Given the description of an element on the screen output the (x, y) to click on. 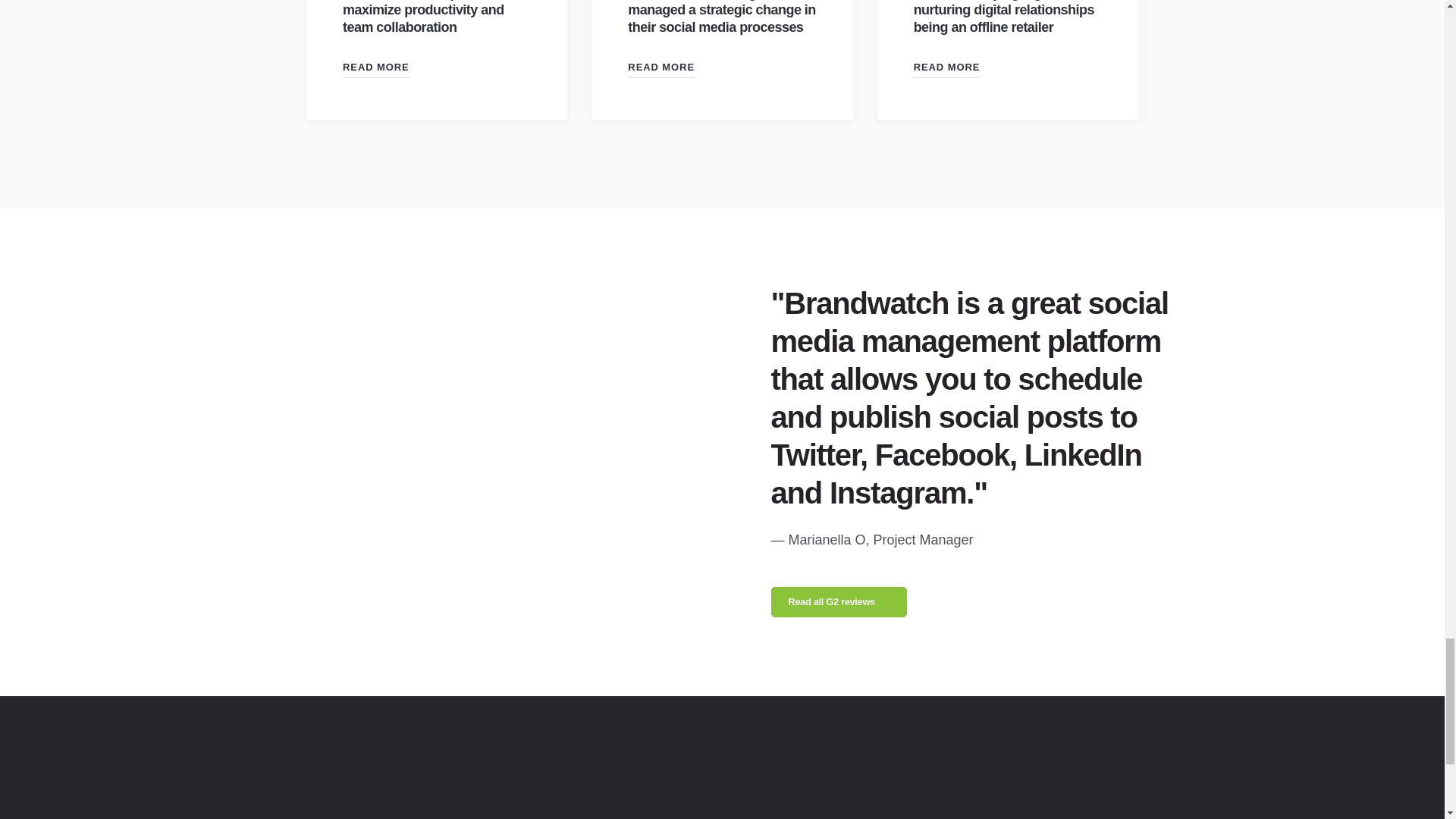
READ MORE (375, 69)
READ MORE (660, 69)
READ MORE (946, 69)
Read all G2 reviews (838, 602)
